Given the description of an element on the screen output the (x, y) to click on. 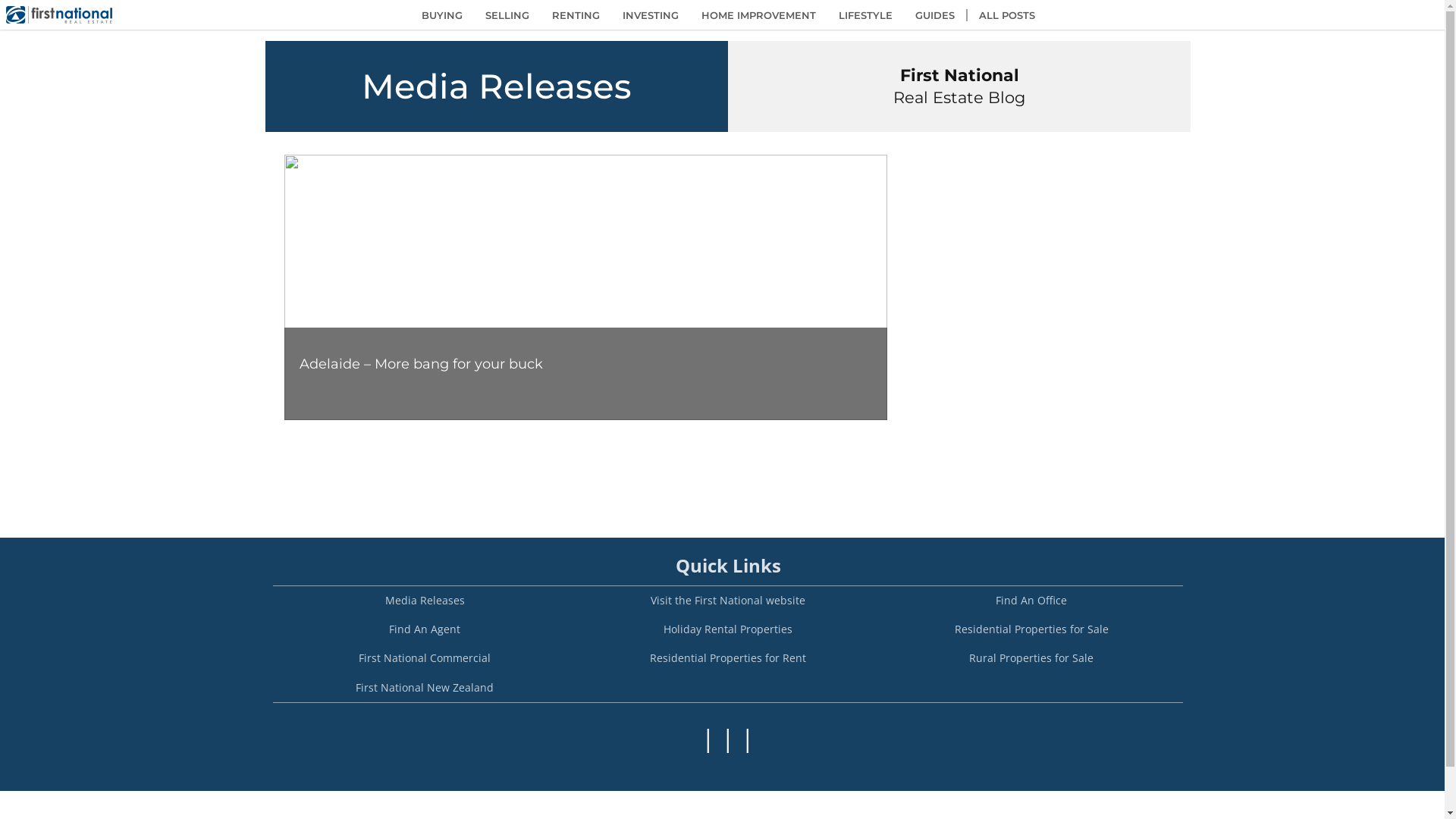
Media Releases Element type: text (424, 600)
Residential Properties for Sale Element type: text (1031, 629)
RENTING Element type: text (574, 15)
Visit the First National website Element type: text (727, 600)
LIFESTYLE Element type: text (864, 15)
First National Commercial Element type: text (424, 657)
HOME IMPROVEMENT Element type: text (758, 15)
Find An Office Element type: text (1031, 600)
BUYING Element type: text (441, 15)
First National New Zealand Element type: text (424, 687)
SELLING Element type: text (506, 15)
INVESTING Element type: text (650, 15)
GUIDES Element type: text (934, 15)
Residential Properties for Rent Element type: text (727, 657)
Rural Properties for Sale Element type: text (1031, 657)
Holiday Rental Properties Element type: text (727, 629)
ALL POSTS Element type: text (1006, 15)
Find An Agent Element type: text (424, 629)
